Given the description of an element on the screen output the (x, y) to click on. 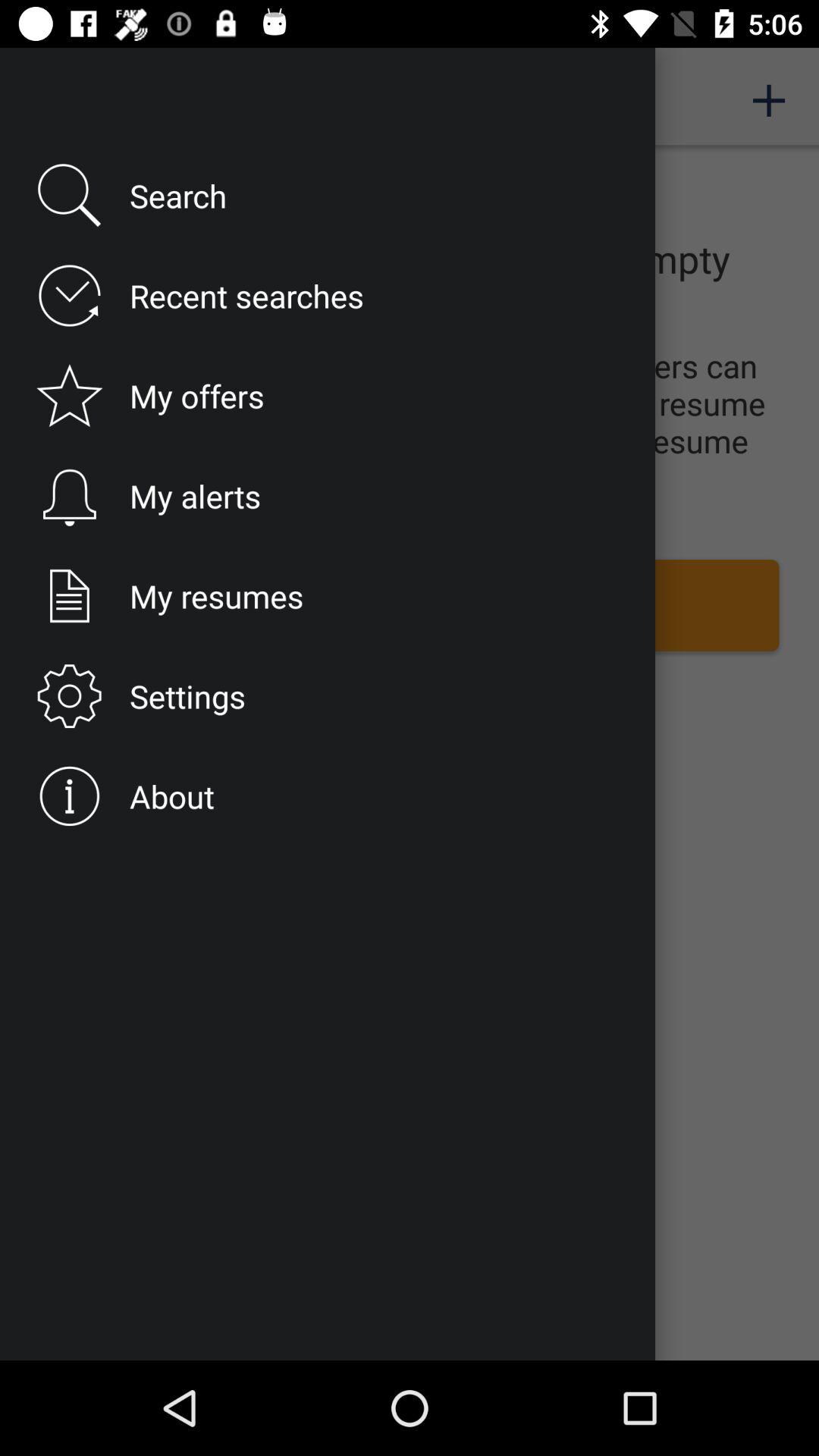
click on my resumes (409, 604)
